Given the description of an element on the screen output the (x, y) to click on. 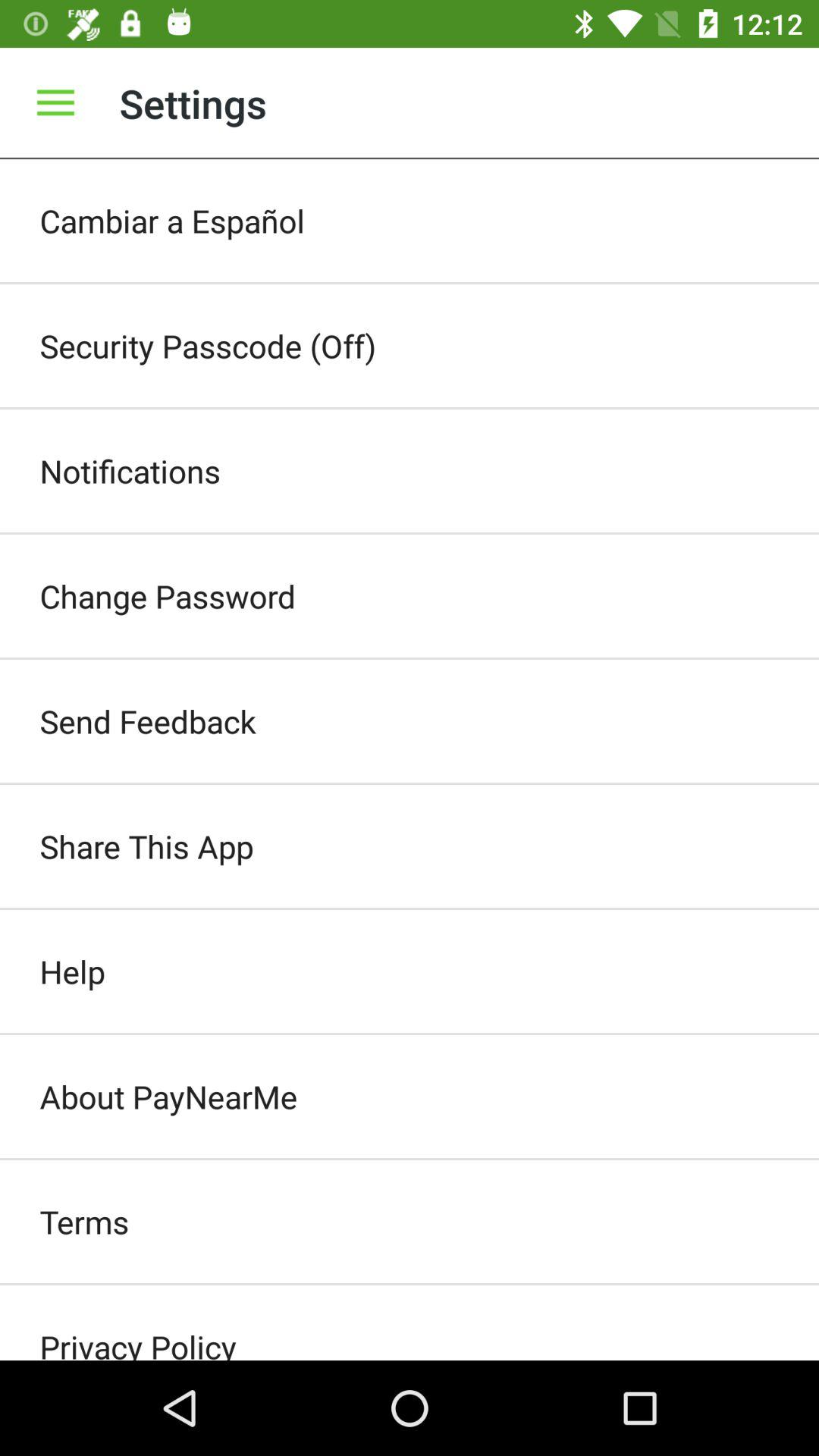
choose the item below the security passcode (off) icon (409, 470)
